Given the description of an element on the screen output the (x, y) to click on. 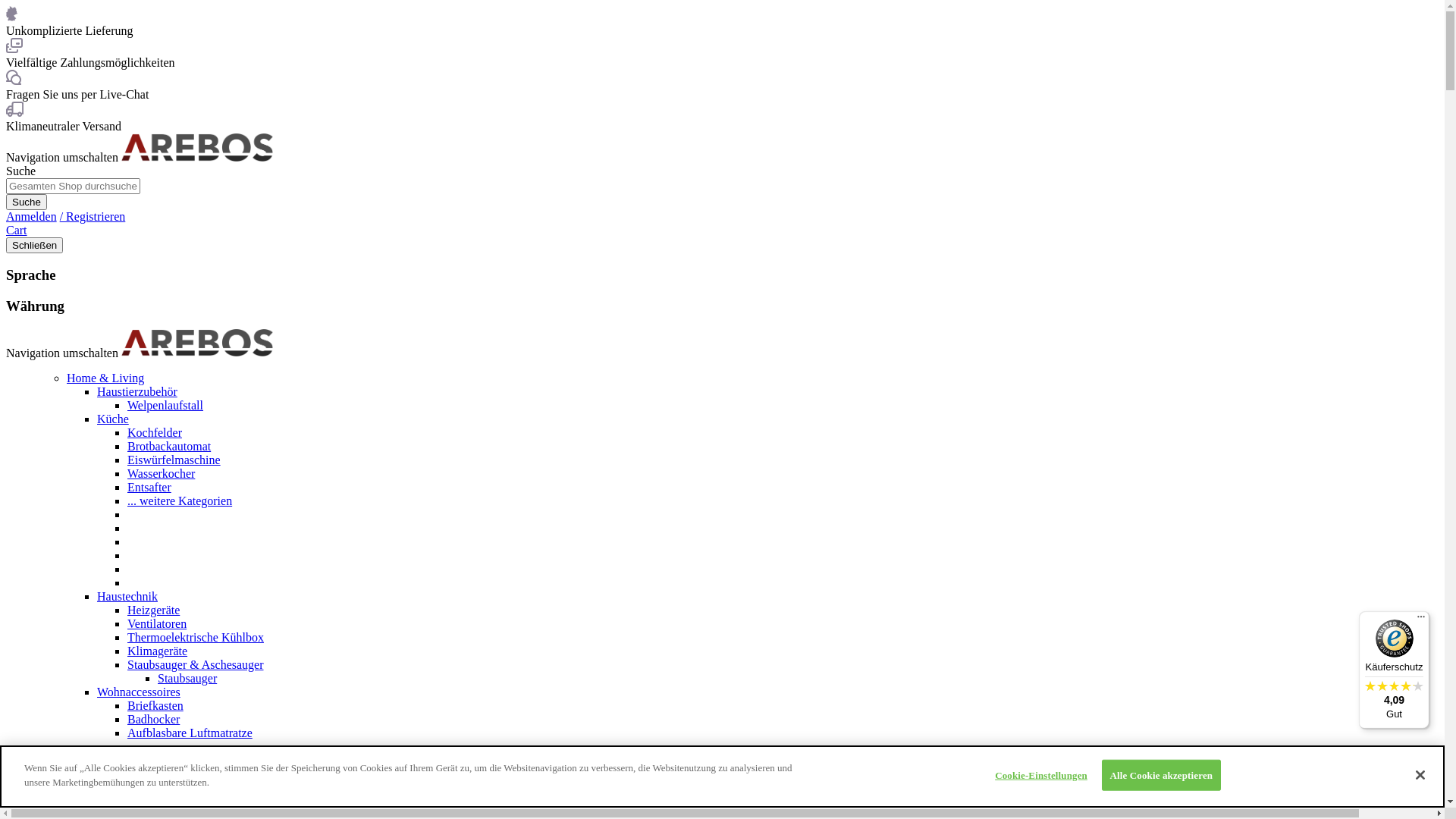
Welpenlaufstall Element type: text (165, 404)
Arebos Element type: hover (197, 343)
Staubsauger & Aschesauger Element type: text (195, 664)
Entsafter Element type: text (149, 486)
Cart Element type: text (16, 229)
Arebos Element type: hover (197, 156)
Suche Element type: text (26, 202)
Staubsauger Element type: text (186, 677)
Ventilatoren Element type: text (156, 623)
... weitere Kategorien Element type: text (179, 500)
Arebos Element type: hover (197, 351)
Briefkasten Element type: text (155, 705)
Aufblasbare Luftmatratze Element type: text (189, 732)
/ Registrieren Element type: text (92, 216)
Kochfelder Element type: text (154, 432)
Badhocker Element type: text (153, 718)
Cookie-Einstellungen Element type: text (1041, 775)
Brotbackautomat Element type: text (168, 445)
Wasserkocher Element type: text (160, 473)
Home & Living Element type: text (105, 377)
Arebos Element type: hover (197, 147)
Haustechnik Element type: text (127, 595)
Anmelden Element type: text (31, 216)
Wohnaccessoires Element type: text (138, 691)
Alle Cookie akzeptieren Element type: text (1161, 775)
